Given the description of an element on the screen output the (x, y) to click on. 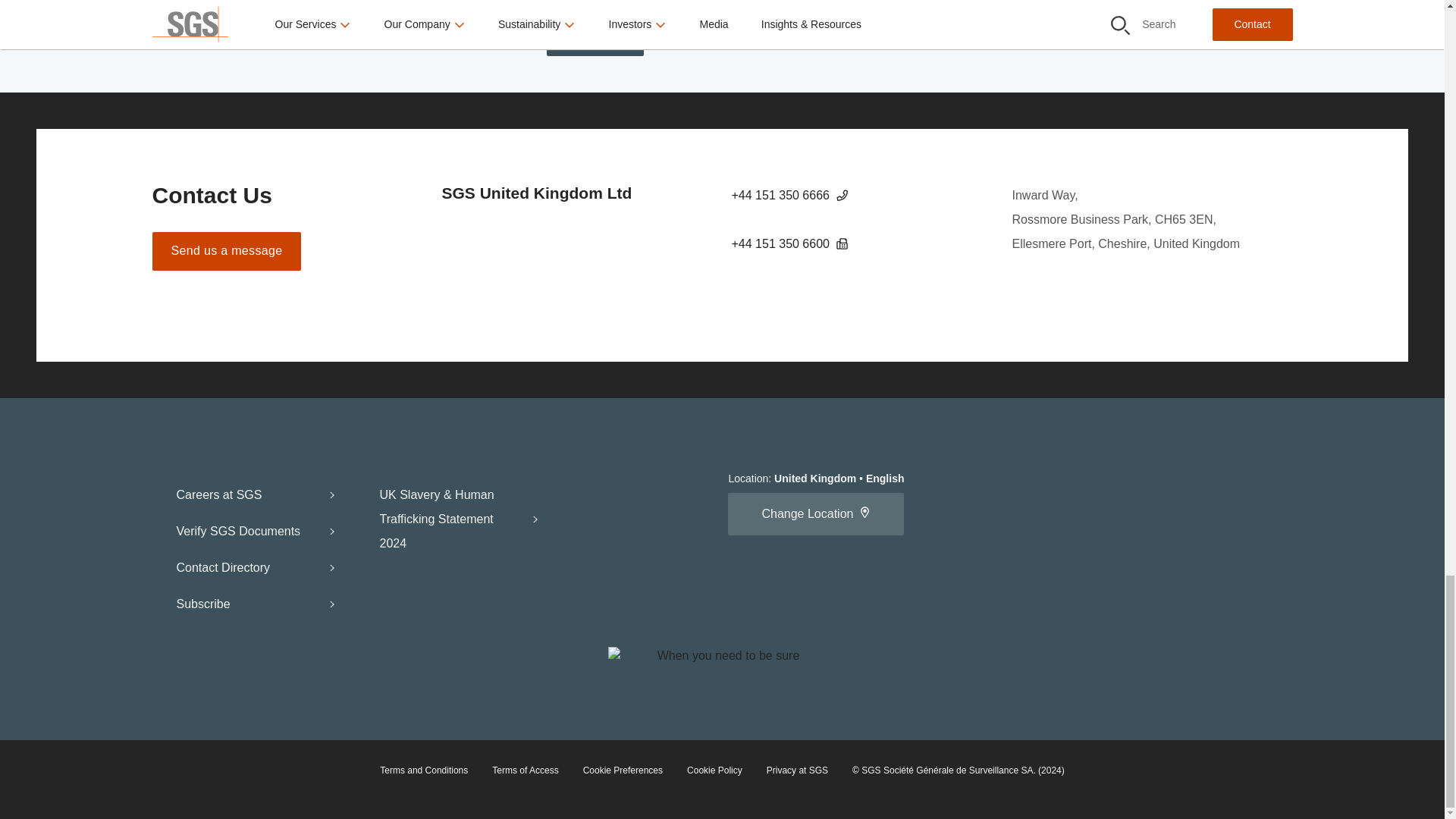
Change Location (816, 514)
Subscribe (256, 604)
Terms of Access (524, 769)
Terms and Conditions (423, 769)
View all (595, 36)
Cookie Preferences (622, 769)
Verify SGS Documents (256, 531)
Careers at SGS (256, 494)
Cookie Policy (714, 769)
Contact Directory (256, 567)
